Given the description of an element on the screen output the (x, y) to click on. 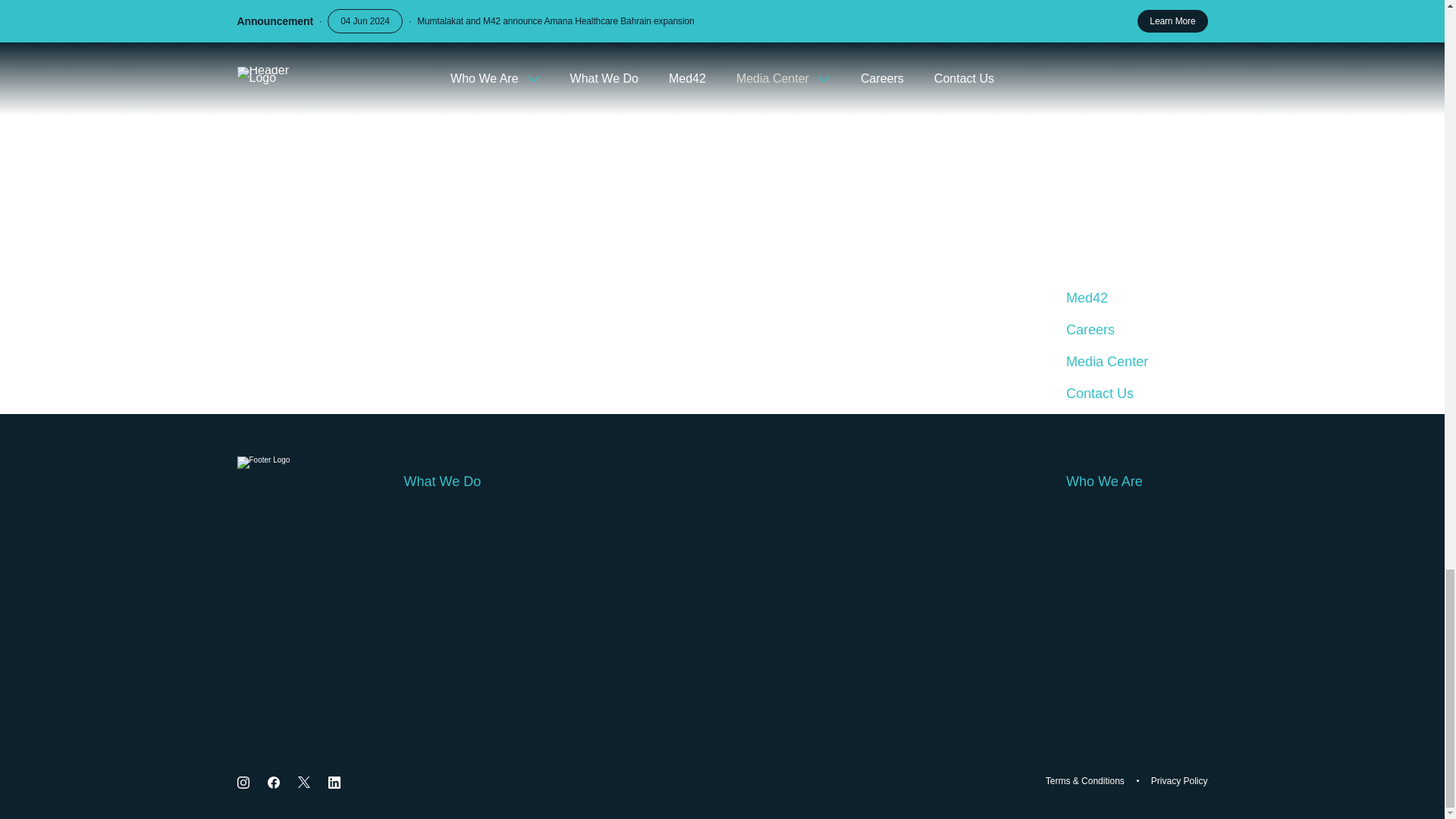
What We Do (722, 481)
Med42 (1136, 297)
Media Center (1136, 361)
Careers (1136, 329)
Who We Are (1136, 481)
Contact Us (1136, 393)
